Given the description of an element on the screen output the (x, y) to click on. 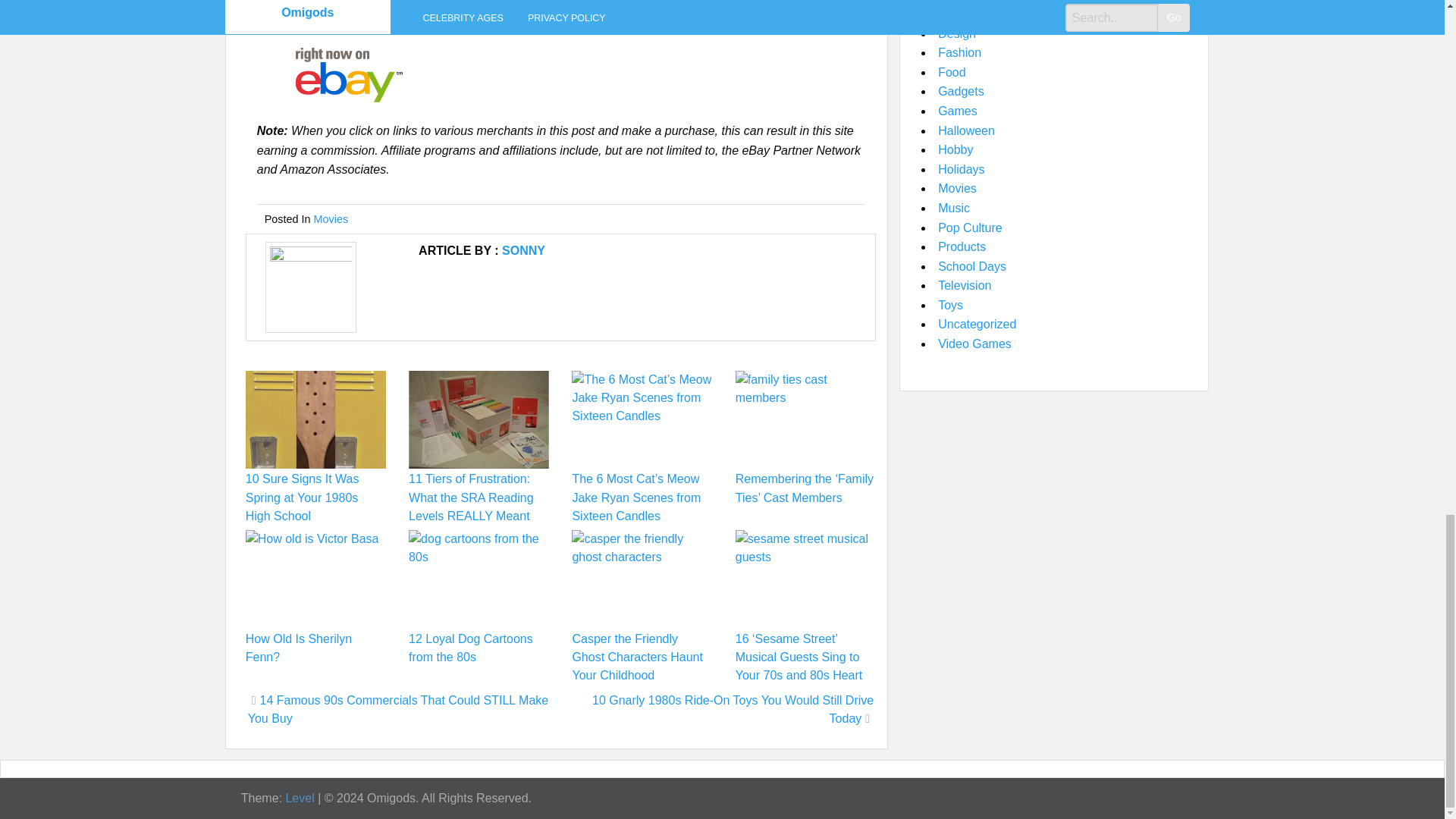
SONNY (523, 250)
Posts by Sonny (523, 250)
How Old Is Sherilyn Fenn? (299, 647)
Movies (331, 218)
10 Sure Signs It Was Spring at Your 1980s High School (302, 496)
10 Sure Signs It Was Spring at Your 1980s High School (302, 496)
How Old Is Sherilyn Fenn? (299, 647)
12 Loyal Dog Cartoons from the 80s (470, 647)
